Given the description of an element on the screen output the (x, y) to click on. 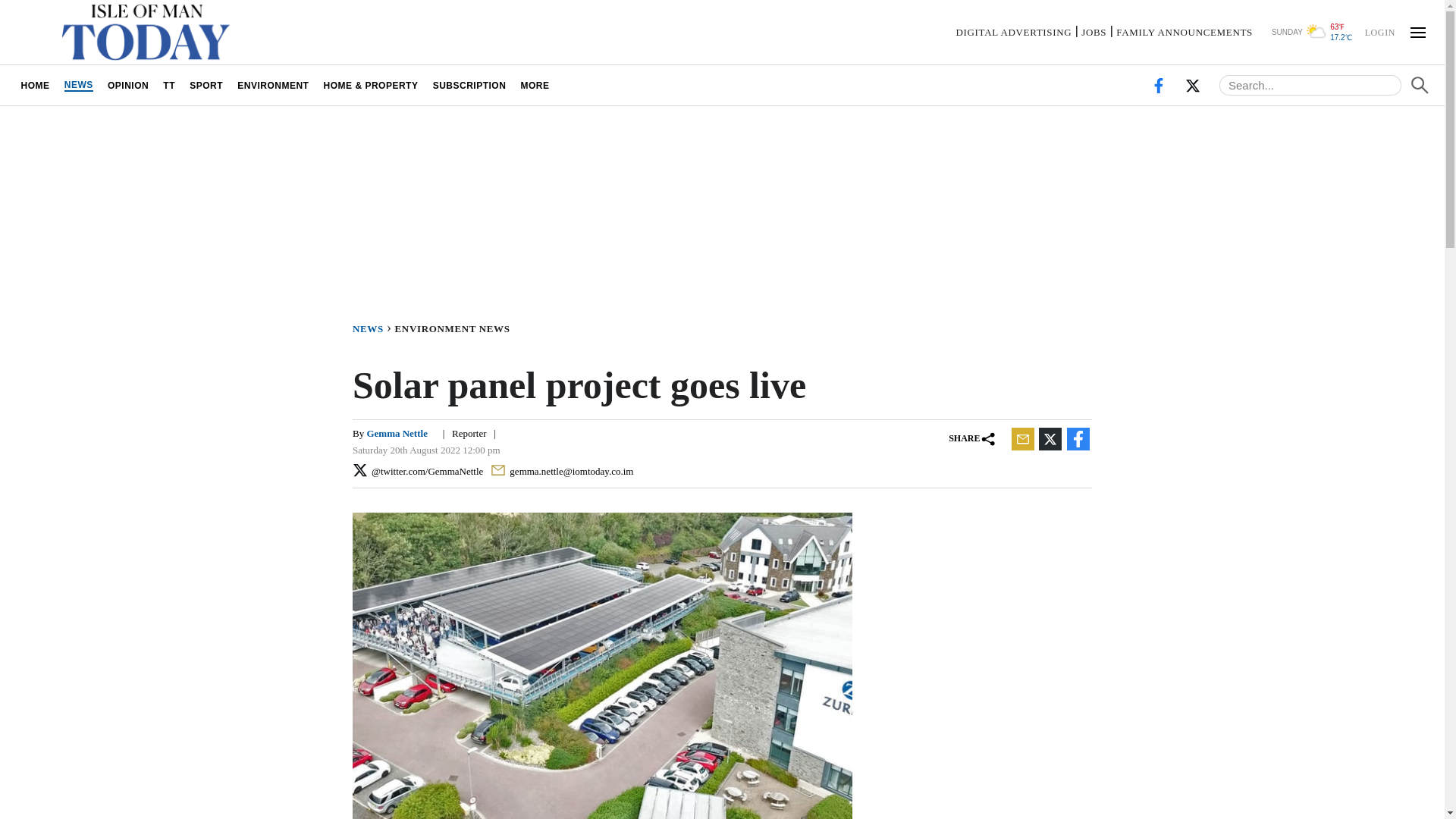
NEWS (373, 328)
HOME (34, 85)
NEWS (78, 85)
SPORT (206, 85)
Gemma Nettle (397, 432)
OPINION (127, 85)
MORE (534, 85)
SUBSCRIPTION (469, 85)
FAMILY ANNOUNCEMENTS (1184, 32)
LOGIN (1379, 31)
